Given the description of an element on the screen output the (x, y) to click on. 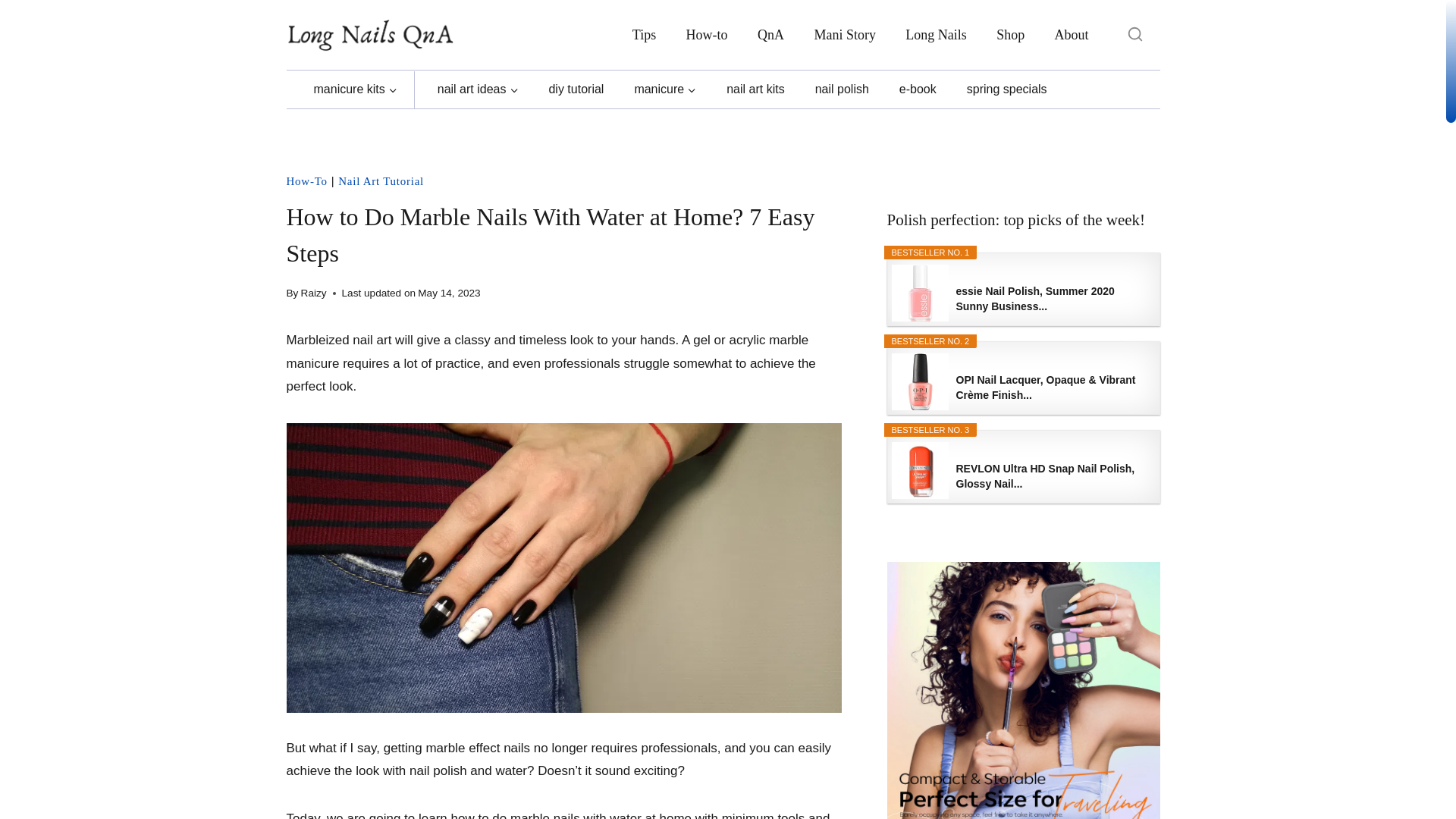
e-book (917, 89)
How-to (706, 34)
Mani Story (844, 34)
diy tutorial (576, 89)
nail art ideas (478, 89)
nail art kits (755, 89)
spring specials (1006, 89)
manicure kits (355, 89)
